Given the description of an element on the screen output the (x, y) to click on. 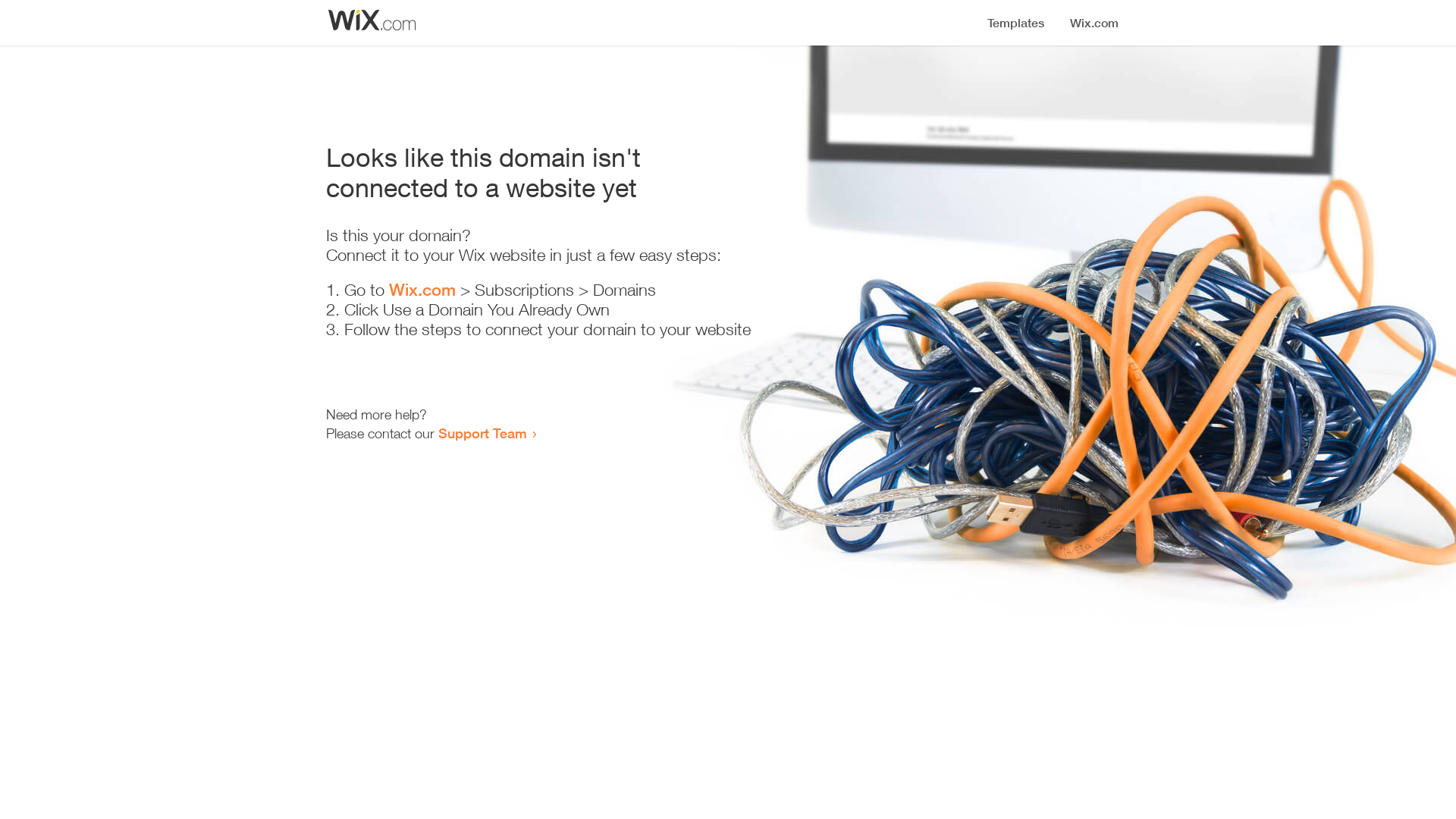
Support Team Element type: text (482, 432)
Wix.com Element type: text (422, 289)
